Given the description of an element on the screen output the (x, y) to click on. 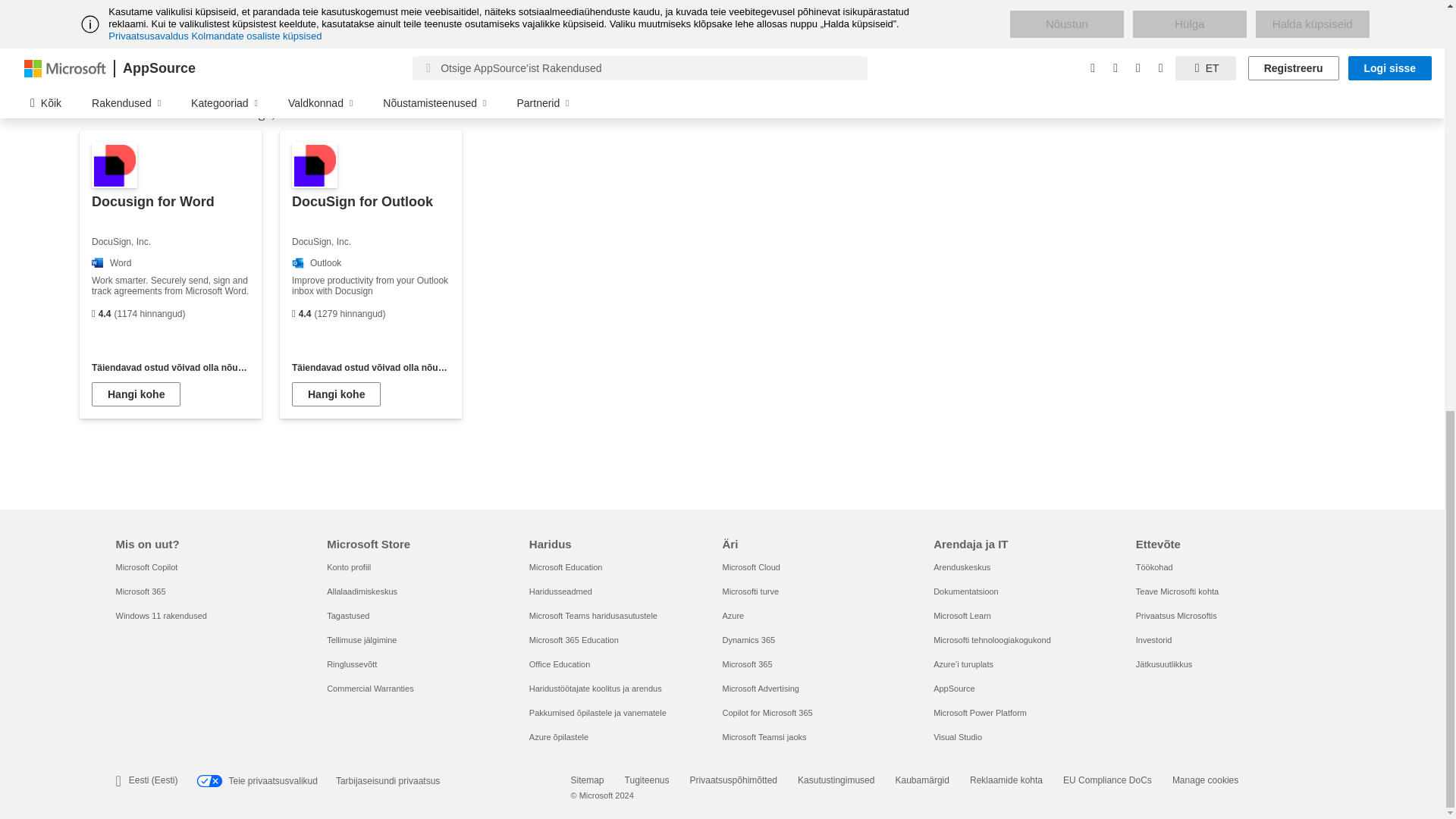
Docusign for Word (171, 274)
Hangi kohe (135, 394)
Hangi kohe (336, 394)
Konto profiil (348, 566)
Microsoft 365 (140, 591)
hinnangud (293, 313)
Microsoft Copilot (146, 566)
hinnangud (93, 313)
DocuSign for Outlook (370, 274)
Windows 11 rakendused (160, 614)
